Given the description of an element on the screen output the (x, y) to click on. 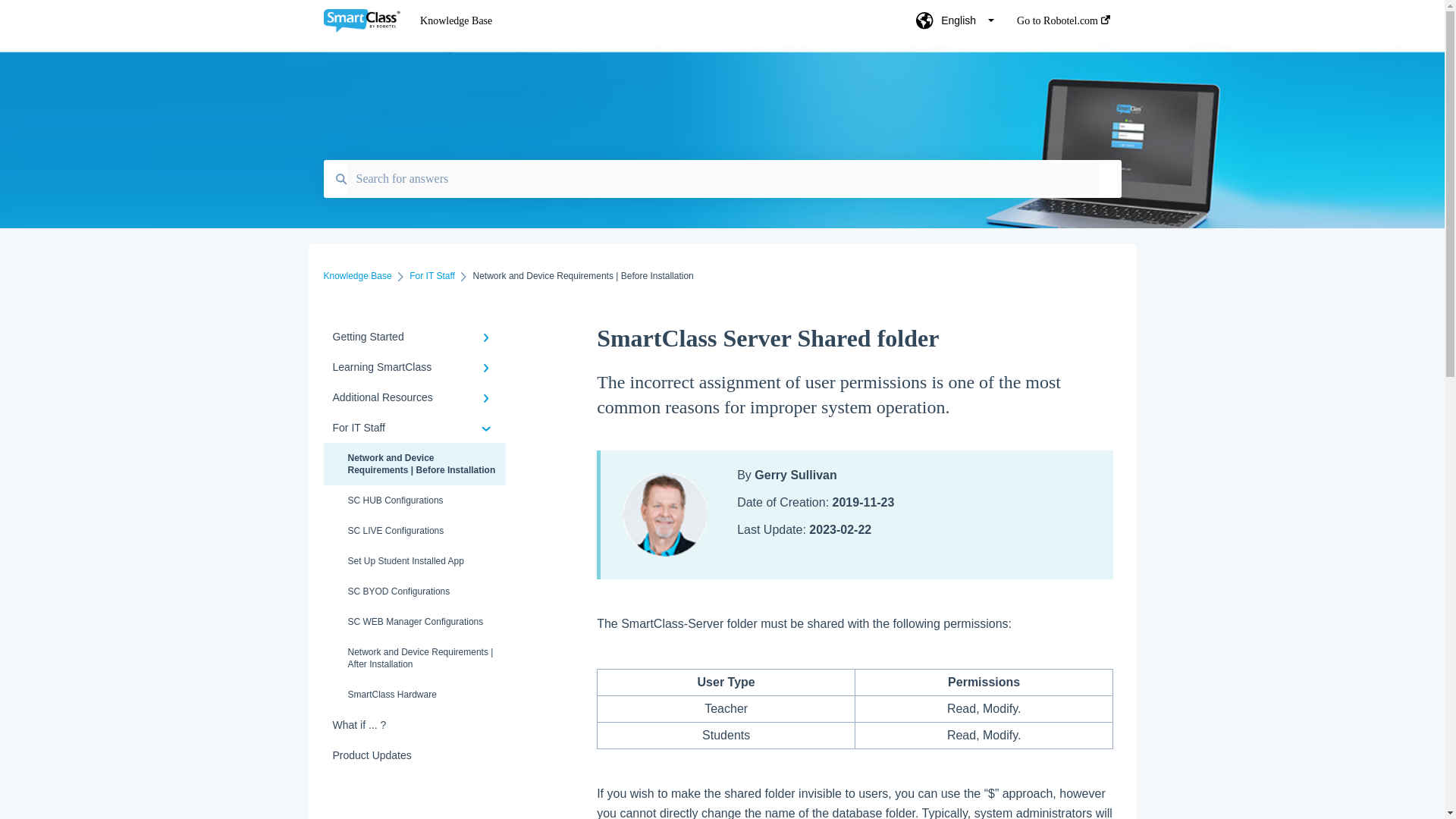
Knowledge Base (645, 21)
English (954, 25)
Go to Robotel.com (1062, 25)
Knowledge Base (357, 276)
For IT Staff (431, 276)
Getting Started (414, 336)
Learning SmartClass (414, 367)
Additional Resources (414, 397)
